Given the description of an element on the screen output the (x, y) to click on. 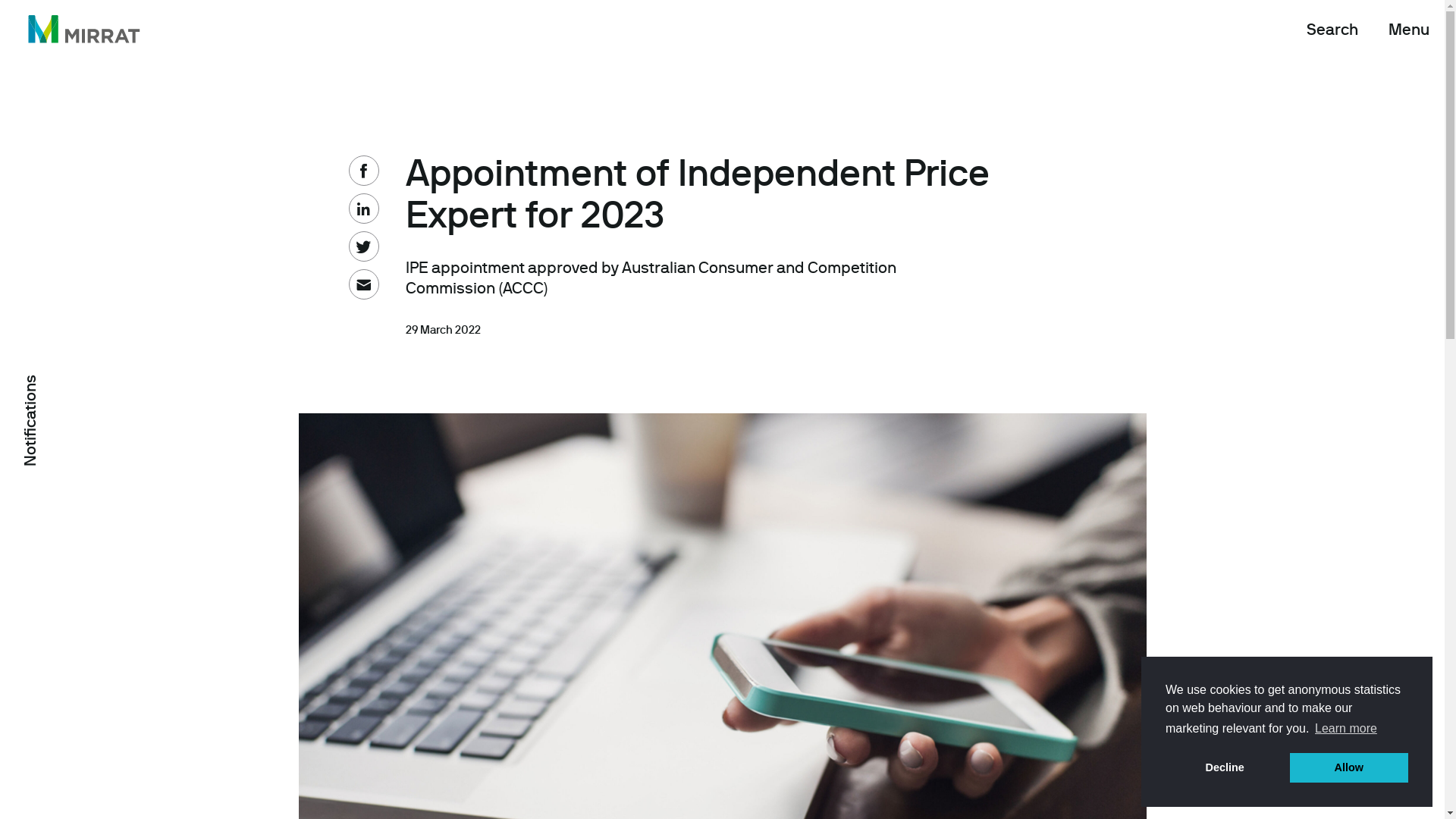
Terms of use Element type: text (557, 641)
Menu Element type: text (1408, 30)
Share by Email Element type: hover (363, 284)
Privacy policy Element type: text (561, 603)
Search Element type: text (1332, 30)
Learn more Element type: text (1345, 728)
LinkedIn Element type: text (329, 566)
Allow Element type: text (1348, 767)
Instagram Element type: text (335, 603)
Decline Element type: text (1224, 767)
Contact us Element type: text (551, 566)
Notifications Element type: text (66, 384)
